Given the description of an element on the screen output the (x, y) to click on. 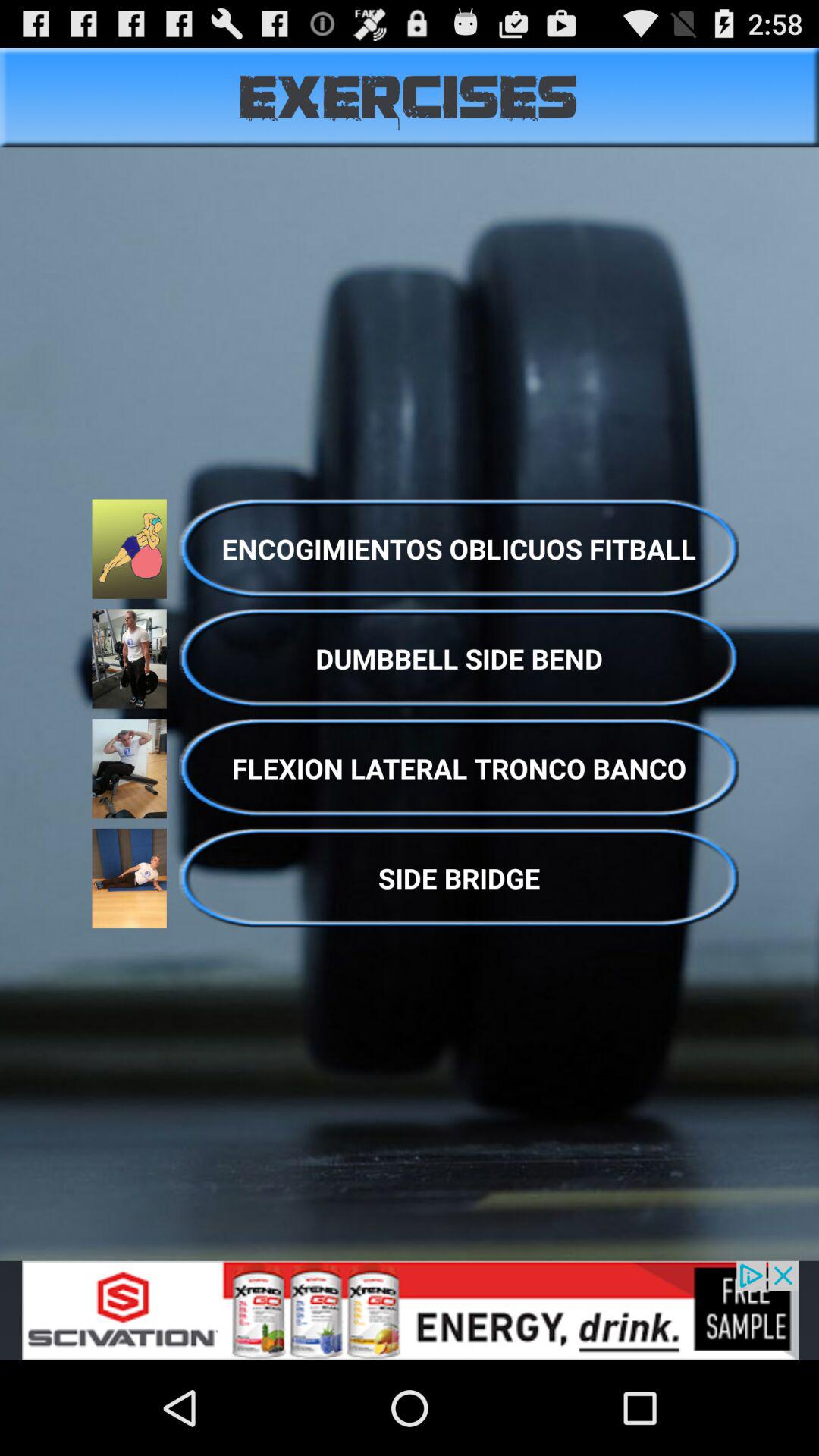
add the option (409, 1310)
